Given the description of an element on the screen output the (x, y) to click on. 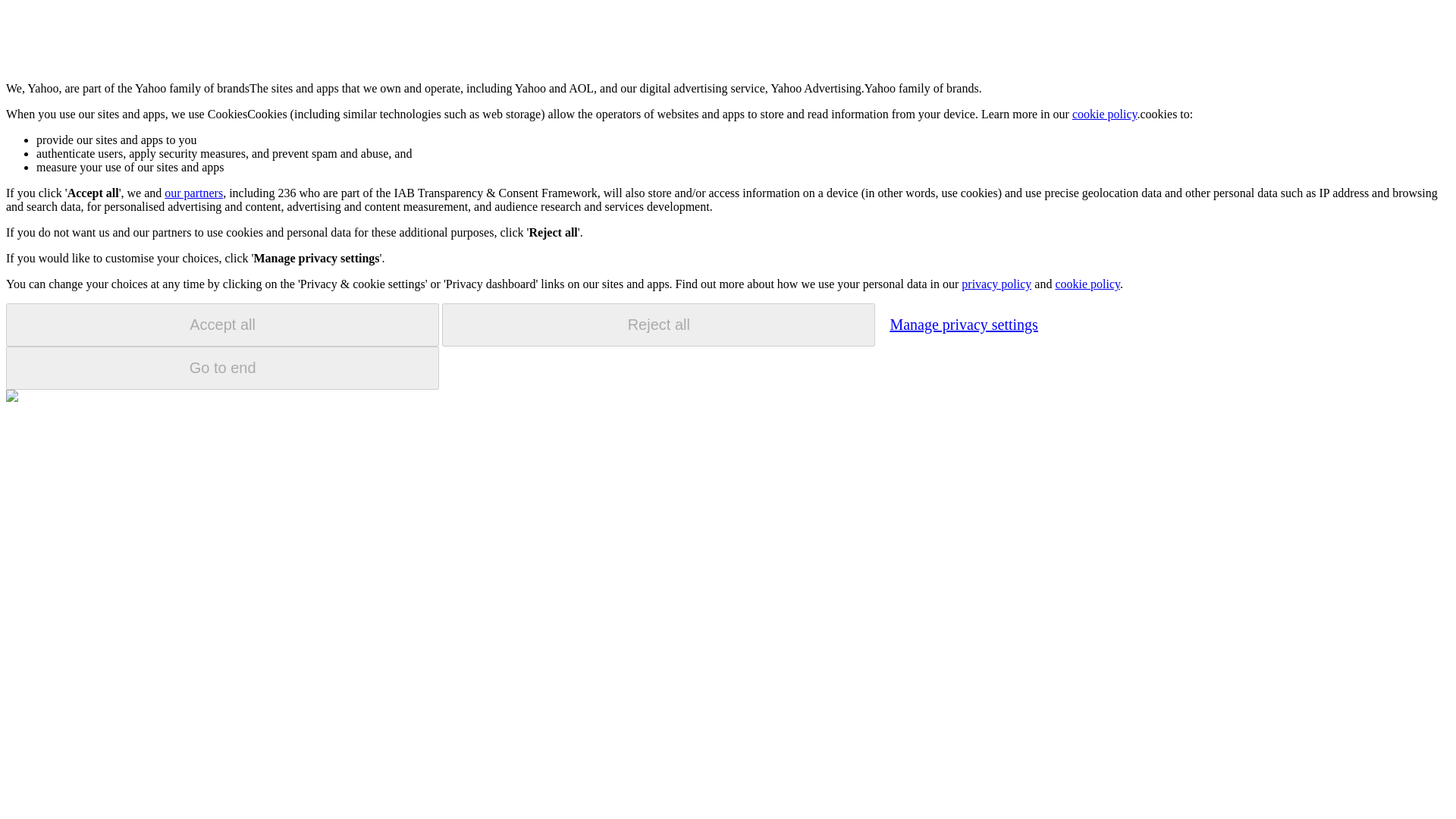
cookie policy (1104, 113)
Go to end (222, 367)
Accept all (222, 324)
Manage privacy settings (963, 323)
privacy policy (995, 283)
our partners (193, 192)
Reject all (658, 324)
cookie policy (1086, 283)
